Given the description of an element on the screen output the (x, y) to click on. 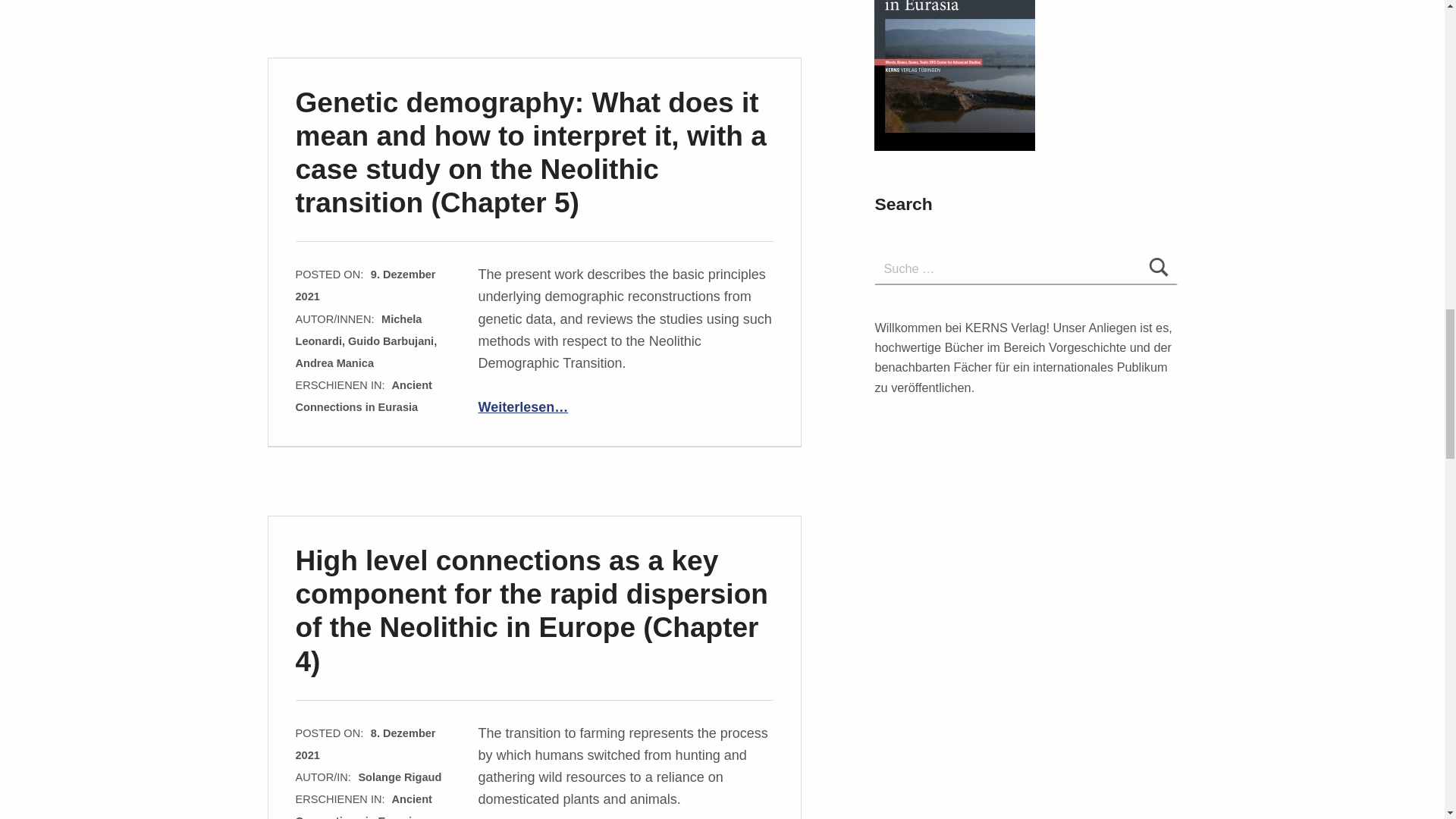
Posted on: 9. Dezember 2021 (365, 285)
Posted on: 8. Dezember 2021 (365, 744)
Suche (1158, 268)
Suche (1158, 268)
